Given the description of an element on the screen output the (x, y) to click on. 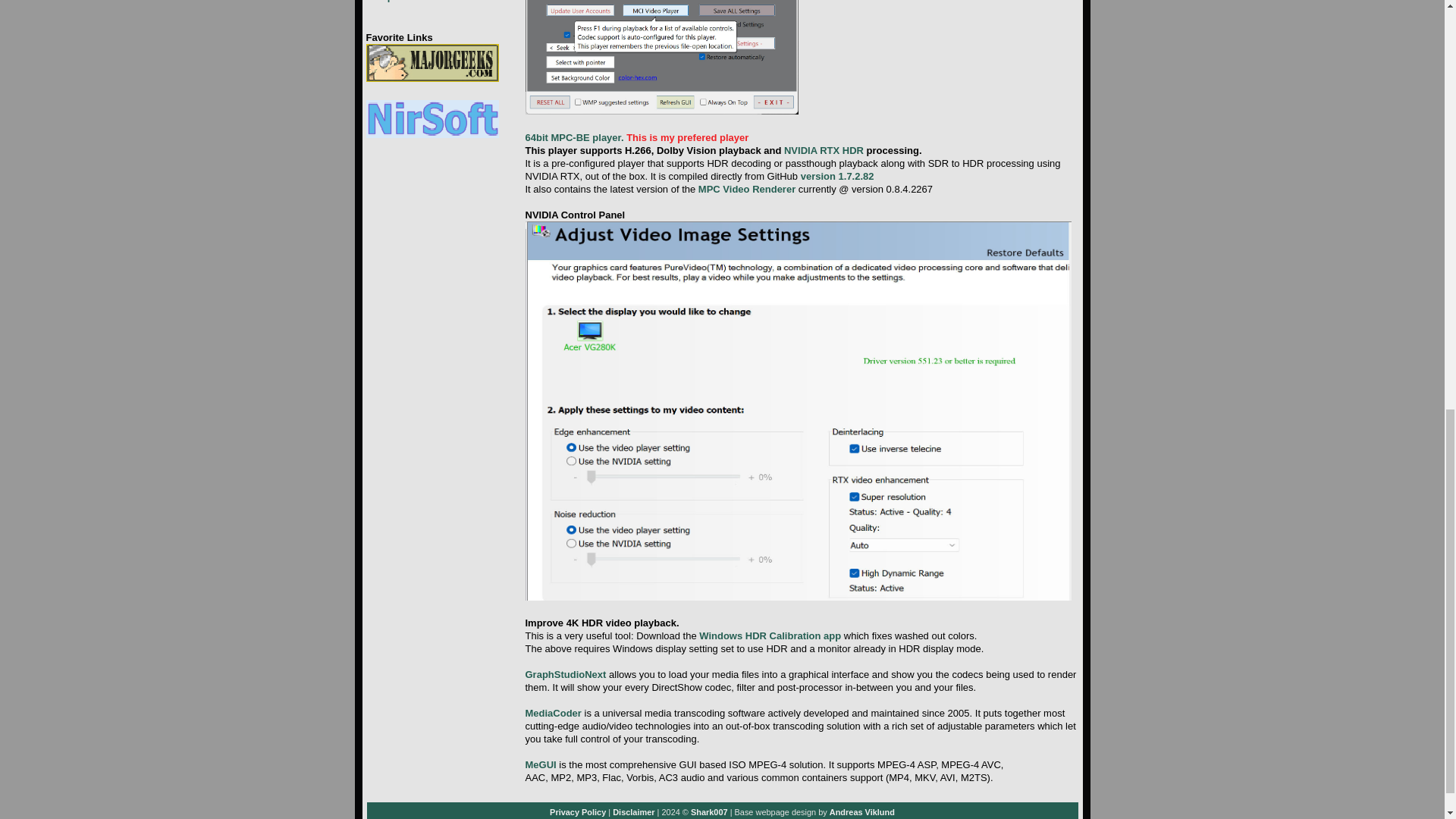
MPC Video Renderer (746, 188)
Help (382, 1)
version 1.7.2.82 (837, 175)
64bit MPC-BE player. (573, 137)
MediaCoder (552, 713)
Andreas Viklund (862, 811)
NVIDIA RTX HDR (823, 150)
Windows HDR Calibration app (769, 635)
GraphStudioNext (564, 674)
MeGUI (540, 764)
Shark007 (709, 811)
Privacy Policy (577, 811)
Disclaimer (632, 811)
Advertisement (939, 59)
